Given the description of an element on the screen output the (x, y) to click on. 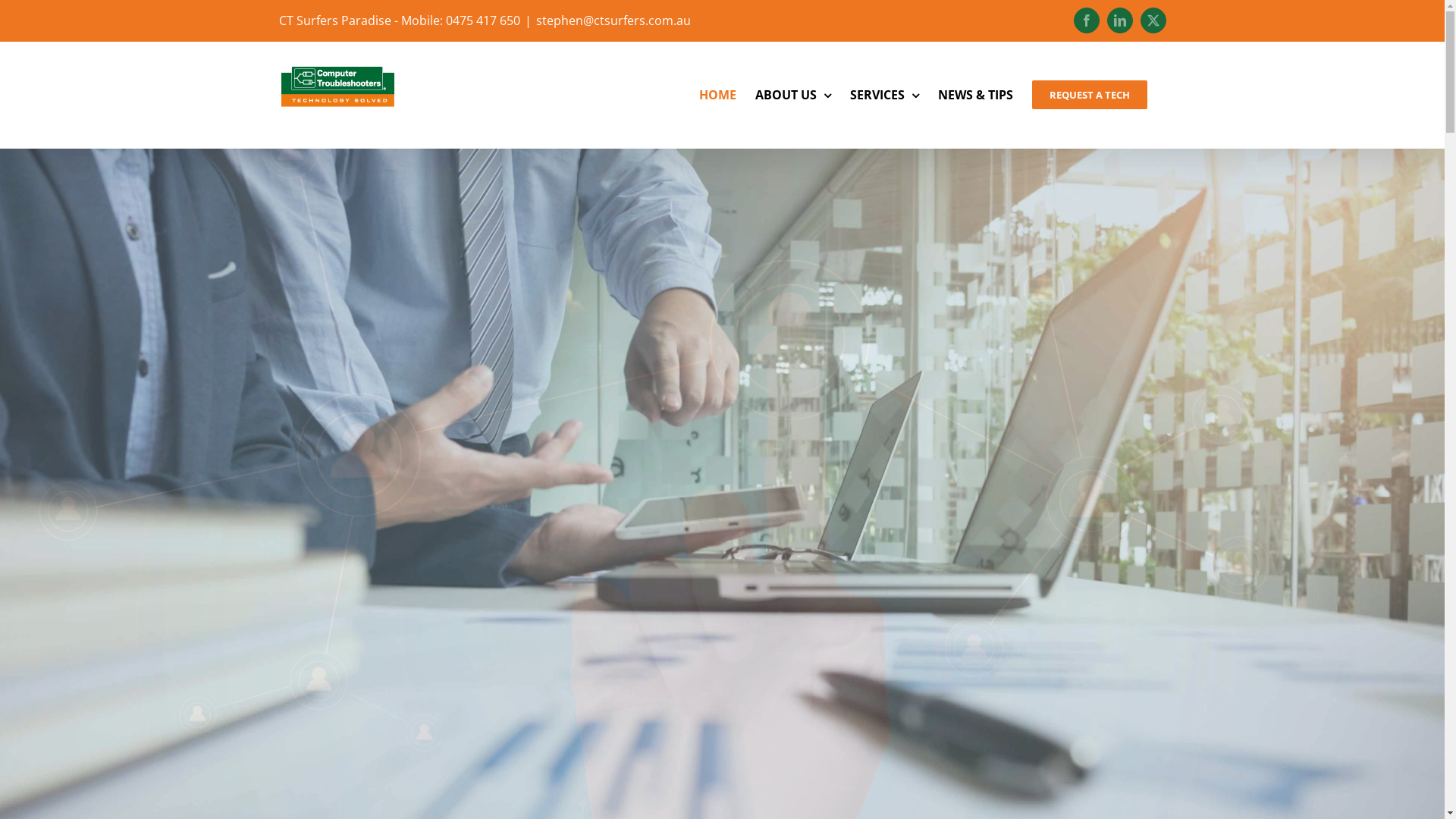
NEWS & TIPS Element type: text (974, 94)
ABOUT US Element type: text (793, 94)
SERVICES Element type: text (883, 94)
stephen@ctsurfers.com.au Element type: text (612, 20)
Contact us now Element type: text (722, 614)
LinkedIn Element type: text (1119, 20)
Twitter Element type: text (1153, 20)
REQUEST A TECH Element type: text (1088, 94)
HOME Element type: text (717, 94)
Facebook Element type: text (1086, 20)
